Given the description of an element on the screen output the (x, y) to click on. 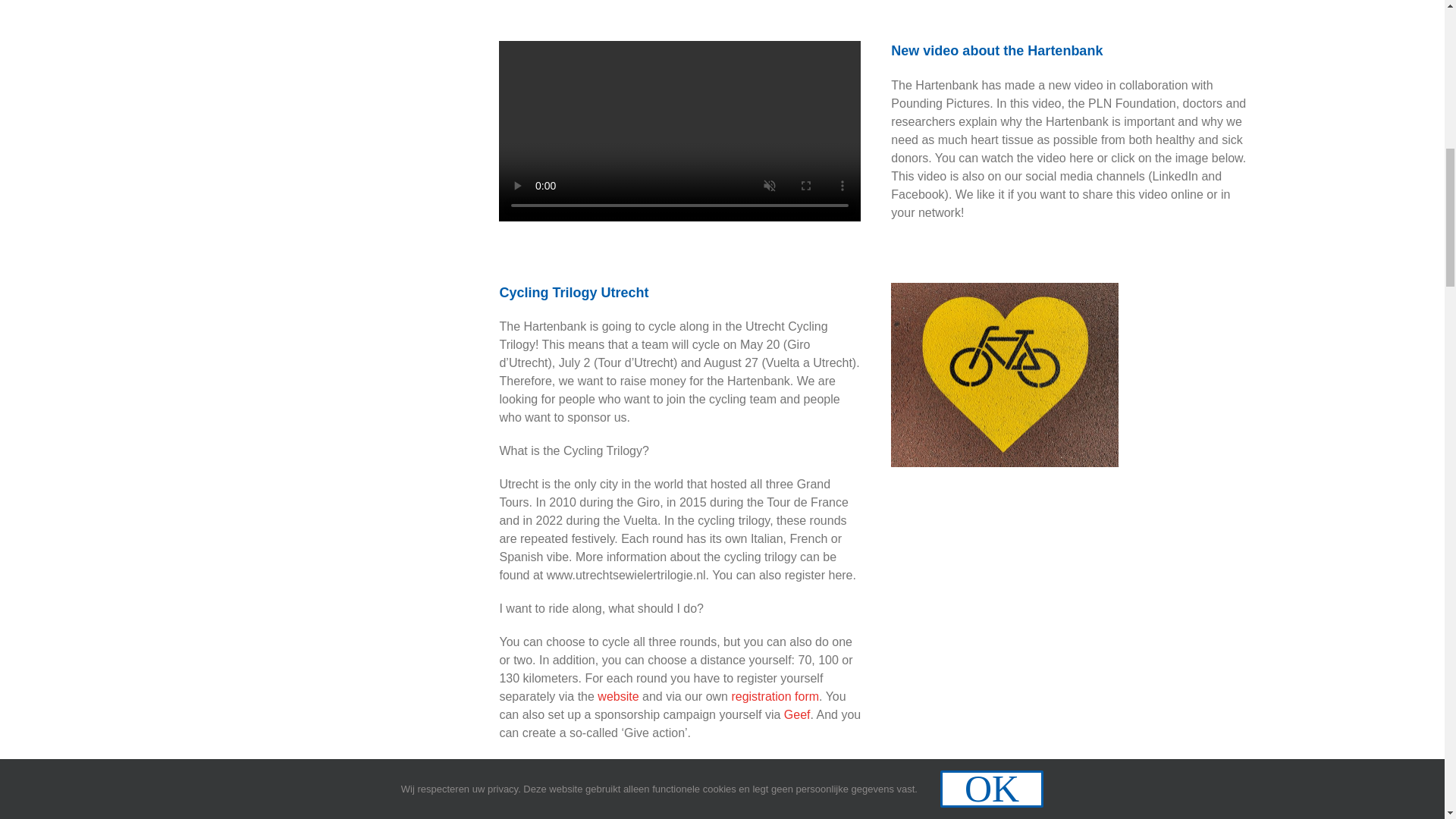
nuno-ricardo-ANICzUXPSCk-unsplash (1004, 374)
